Given the description of an element on the screen output the (x, y) to click on. 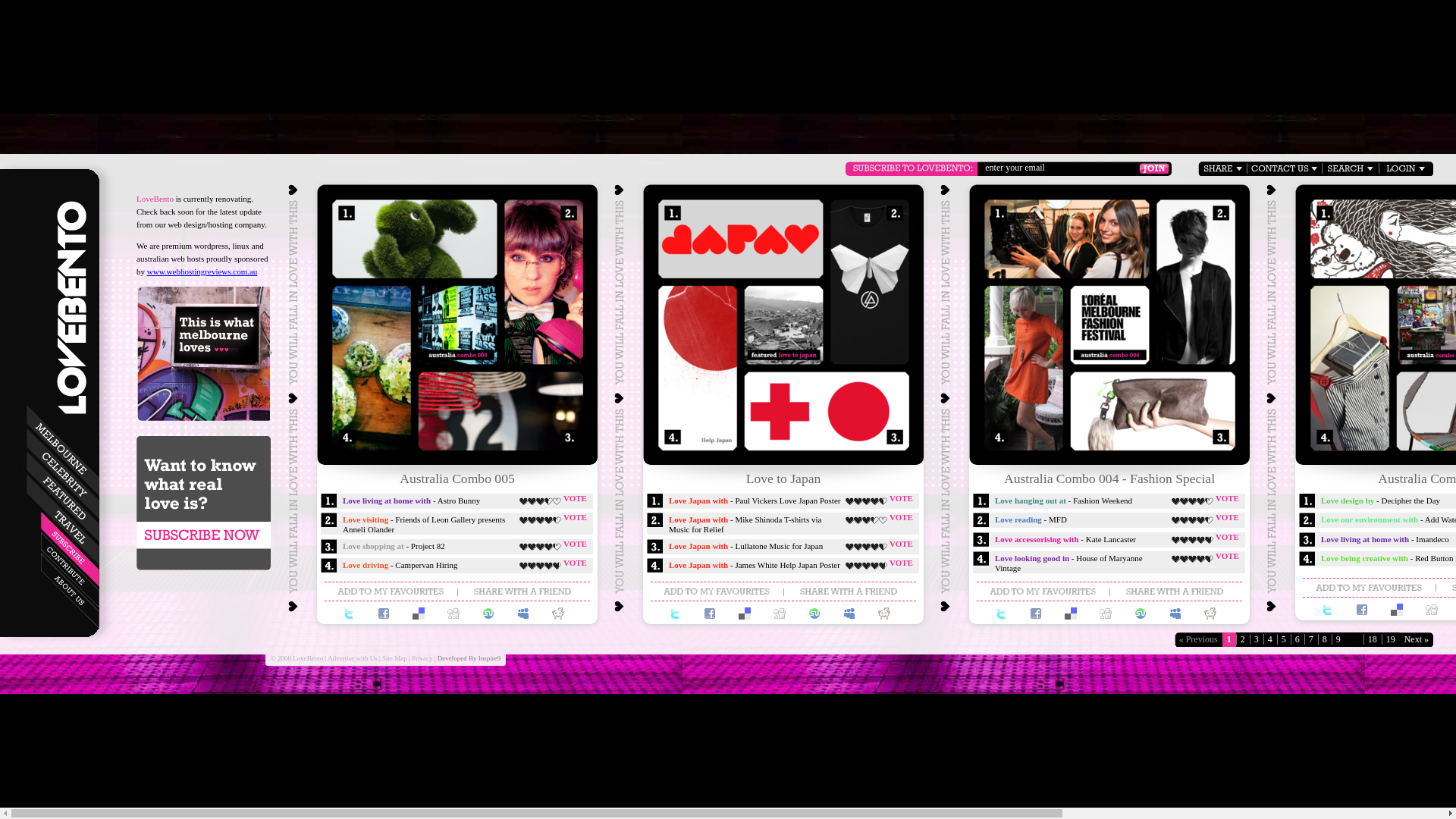
SHARE WITH A FRIEND Element type: text (849, 591)
VOTE Element type: text (1227, 497)
VOTE Element type: text (574, 516)
ADD TO MY FAVOURITES Element type: text (716, 591)
Add to del.icio.us Element type: text (418, 613)
Friends of Leon Gallery presents Anneli Olander Element type: text (543, 280)
Add to Twitter Element type: text (1327, 609)
Love accessorising with - Kate Lancaster Element type: text (1064, 537)
Add to del.icio.us Element type: text (1070, 613)
Add to Digg Element type: text (779, 613)
House of Maryanne Vintage Element type: text (1023, 370)
MFD Element type: text (1195, 280)
Add to Facebook Element type: text (1361, 609)
Advertise with Us Element type: text (352, 657)
3 Element type: text (1256, 639)
SHARE WITH A FRIEND Element type: text (523, 591)
Love reading - MFD Element type: text (1030, 519)
18 Element type: text (1372, 639)
Add to Twitter Element type: text (674, 613)
Paul Vickers Love Japan Poster Element type: text (740, 237)
Add to StumbleUpon Element type: text (1140, 613)
Australia Combo 004 - Fashion Special Element type: text (1107, 327)
9 Element type: text (1338, 639)
Add to Reddit Element type: text (884, 613)
VOTE Element type: text (1227, 555)
Love Japan with - James White Help Japan Poster Element type: text (754, 564)
Love design by - Decipher the Day Element type: text (1380, 500)
Australia Combo 004 - Fashion Special Element type: text (1109, 477)
Love driving - Campervan Hiring Element type: text (400, 564)
Add to Twitter Element type: text (348, 613)
VOTE Element type: text (574, 497)
ADD TO MY FAVOURITES Element type: text (1368, 586)
Add to StumbleUpon Element type: text (488, 613)
SHARE WITH A FRIEND Element type: text (1175, 591)
Love hanging out at - Fashion Weekend Element type: text (1063, 500)
SUBMIT Element type: text (1154, 167)
Love living at home with - Astro Bunny Element type: text (411, 500)
7 Element type: text (1310, 639)
enter your email Element type: text (1060, 167)
6 Element type: text (1297, 639)
8 Element type: text (1324, 639)
VOTE Element type: text (901, 516)
Site Map Element type: text (394, 657)
Add to MySpace Element type: text (523, 613)
4 Element type: text (1270, 639)
Add to Twitter Element type: text (1000, 613)
19 Element type: text (1390, 639)
Add to StumbleUpon Element type: text (814, 613)
VOTE Element type: text (901, 543)
Bud Flowers Element type: text (371, 370)
Contact Us Element type: text (1283, 167)
Kate Lancaster Element type: text (1152, 410)
Lullatone Music for Japan Element type: text (825, 410)
Love to Japan Element type: text (781, 327)
Login Element type: text (1404, 167)
James White Help Japan Poster Element type: text (697, 370)
Project 82 Element type: text (499, 410)
. Element type: text (1, 161)
VOTE Element type: text (901, 497)
5 Element type: text (1283, 639)
Love looking good in - House of Maryanne Vintage Element type: text (1068, 562)
Love Japan with - Mike Shinoda T-shirts via Music for Relief Element type: text (744, 523)
Australia Combo 005 Element type: text (456, 477)
Add to Digg Element type: text (453, 613)
Love shopping at - Project 82 Element type: text (393, 545)
Add to MySpace Element type: text (1175, 613)
VOTE Element type: text (574, 543)
Subscribe Now! Element type: text (203, 502)
Love Japan with - Paul Vickers Love Japan Poster Element type: text (754, 500)
Add to Facebook Element type: text (1035, 613)
VOTE Element type: text (574, 562)
Red Button Project Element type: text (1349, 370)
Add to Reddit Element type: text (558, 613)
VOTE Element type: text (901, 562)
Love Japan with - Lullatone Music for Japan Element type: text (745, 545)
Add to del.icio.us Element type: text (744, 613)
Add to del.icio.us Element type: text (1396, 609)
Privacy Element type: text (422, 657)
VOTE Element type: text (1227, 536)
Add to Facebook Element type: text (383, 613)
2 Element type: text (1242, 639)
Mike Shinoda T-shirts via Music for Relief Element type: text (869, 280)
Love living at home with - Imandeco Element type: text (1385, 537)
Love to Japan Element type: text (783, 477)
Developed By Inspire9 Element type: text (468, 657)
VOTE Element type: text (1227, 516)
Add to MySpace Element type: text (849, 613)
Add to Facebook Element type: text (709, 613)
Australia Combo 005 Element type: text (455, 327)
Add to Digg Element type: text (1431, 609)
www.webhostingreviews.com.au Element type: text (202, 271)
Add to Reddit Element type: text (1210, 613)
Search Element type: text (1349, 167)
Share Element type: text (1222, 167)
Add to Digg Element type: text (1105, 613)
Web Hosting & Web Design : Love Bento Element type: text (71, 310)
Astro Bunny Element type: text (414, 237)
ADD TO MY FAVOURITES Element type: text (390, 591)
Fashion Weekend Element type: text (1066, 237)
ADD TO MY FAVOURITES Element type: text (1042, 591)
